Given the description of an element on the screen output the (x, y) to click on. 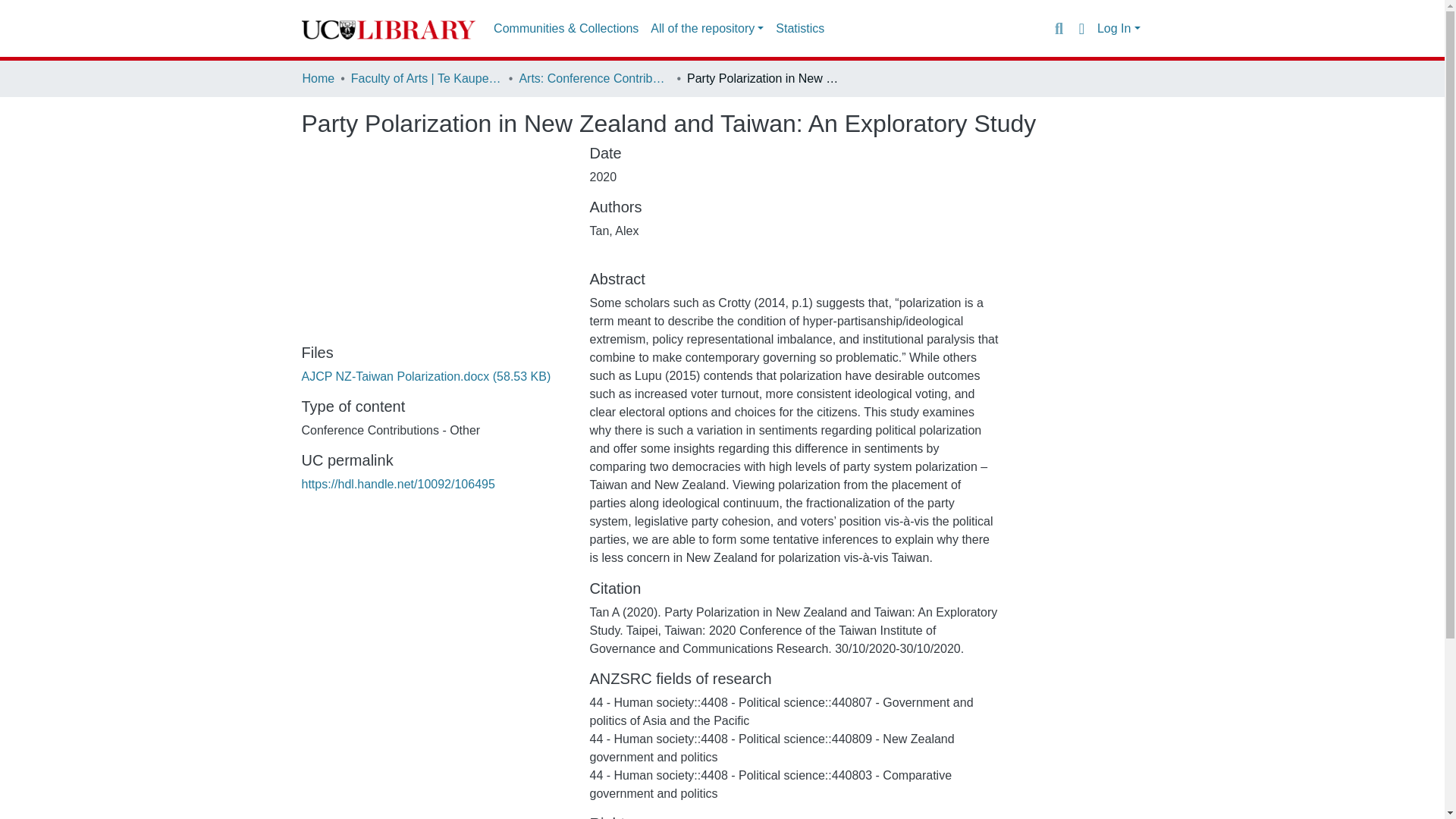
Language switch (1081, 28)
Arts: Conference Contributions (593, 78)
Statistics (799, 28)
All of the repository (707, 28)
Home (317, 78)
Search (1058, 28)
Statistics (799, 28)
Log In (1118, 28)
